Given the description of an element on the screen output the (x, y) to click on. 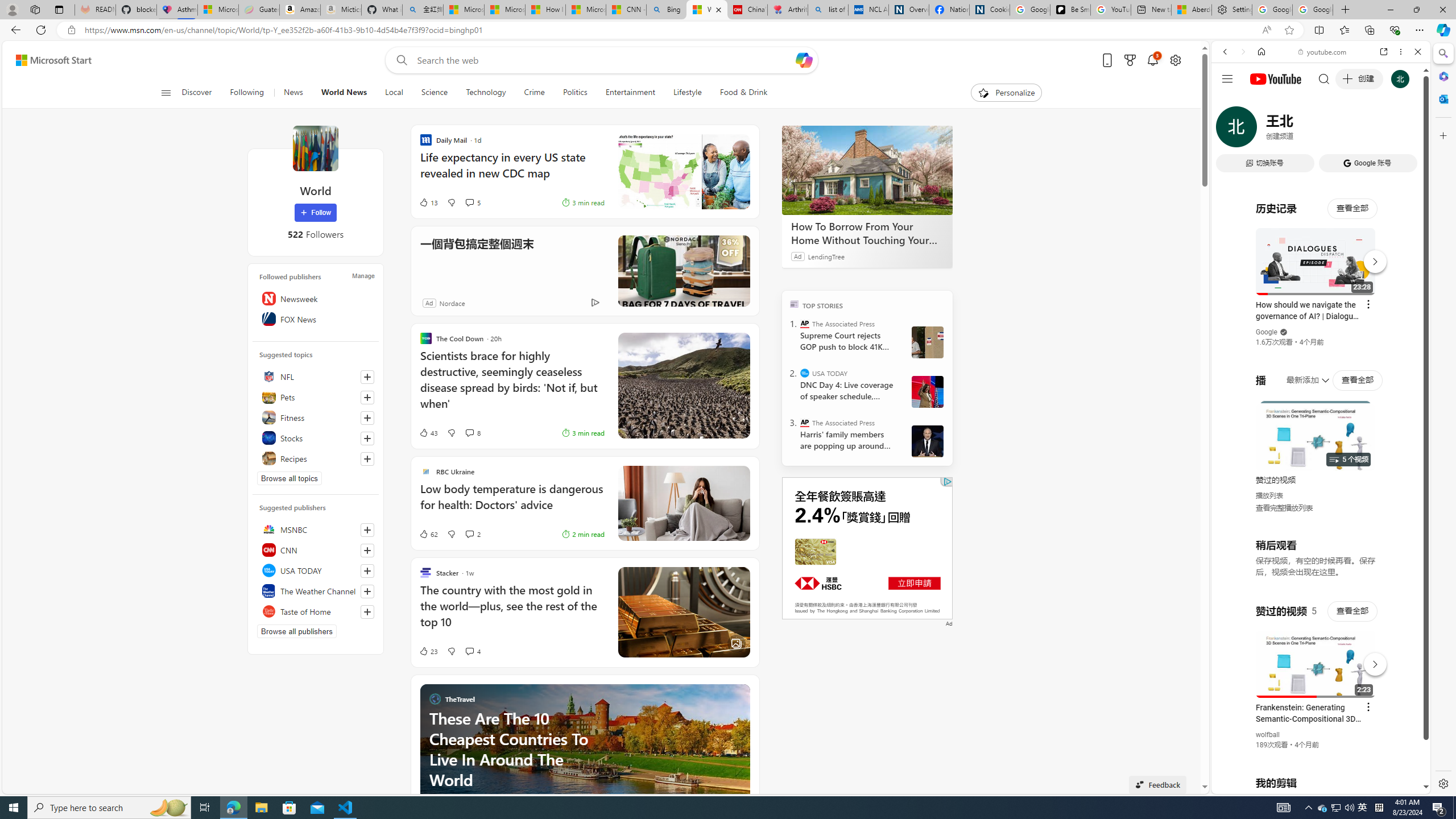
Taste of Home (315, 610)
Class: button-glyph (165, 92)
Follow this topic (367, 459)
Food & Drink (743, 92)
How To Borrow From Your Home Without Touching Your Mortgage (866, 169)
Google (1320, 281)
SEARCH TOOLS (1350, 130)
Forward (1242, 51)
